Given the description of an element on the screen output the (x, y) to click on. 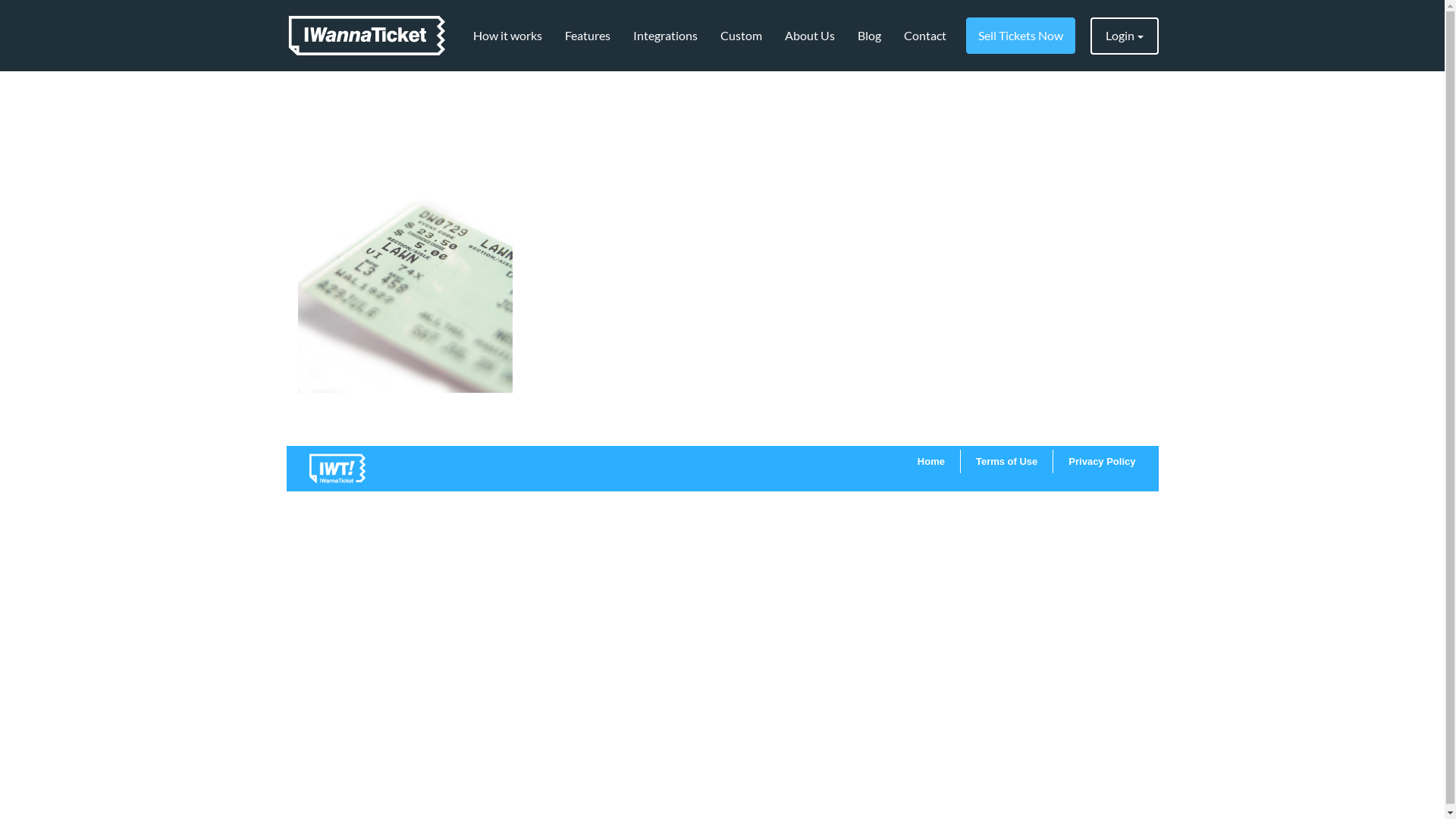
Terms of Use Element type: text (1006, 461)
Sorry Element type: hover (404, 231)
Privacy Policy Element type: text (1101, 461)
IWannaTicket Element type: text (366, 35)
How it works Element type: text (506, 35)
Sell Tickets Now Element type: text (1020, 35)
Features Element type: text (587, 35)
Integrations Element type: text (665, 35)
About Us Element type: text (809, 35)
Custom Element type: text (740, 35)
Blog Element type: text (869, 35)
Contact Element type: text (924, 35)
Login Element type: text (1124, 35)
Home Element type: text (931, 461)
